Given the description of an element on the screen output the (x, y) to click on. 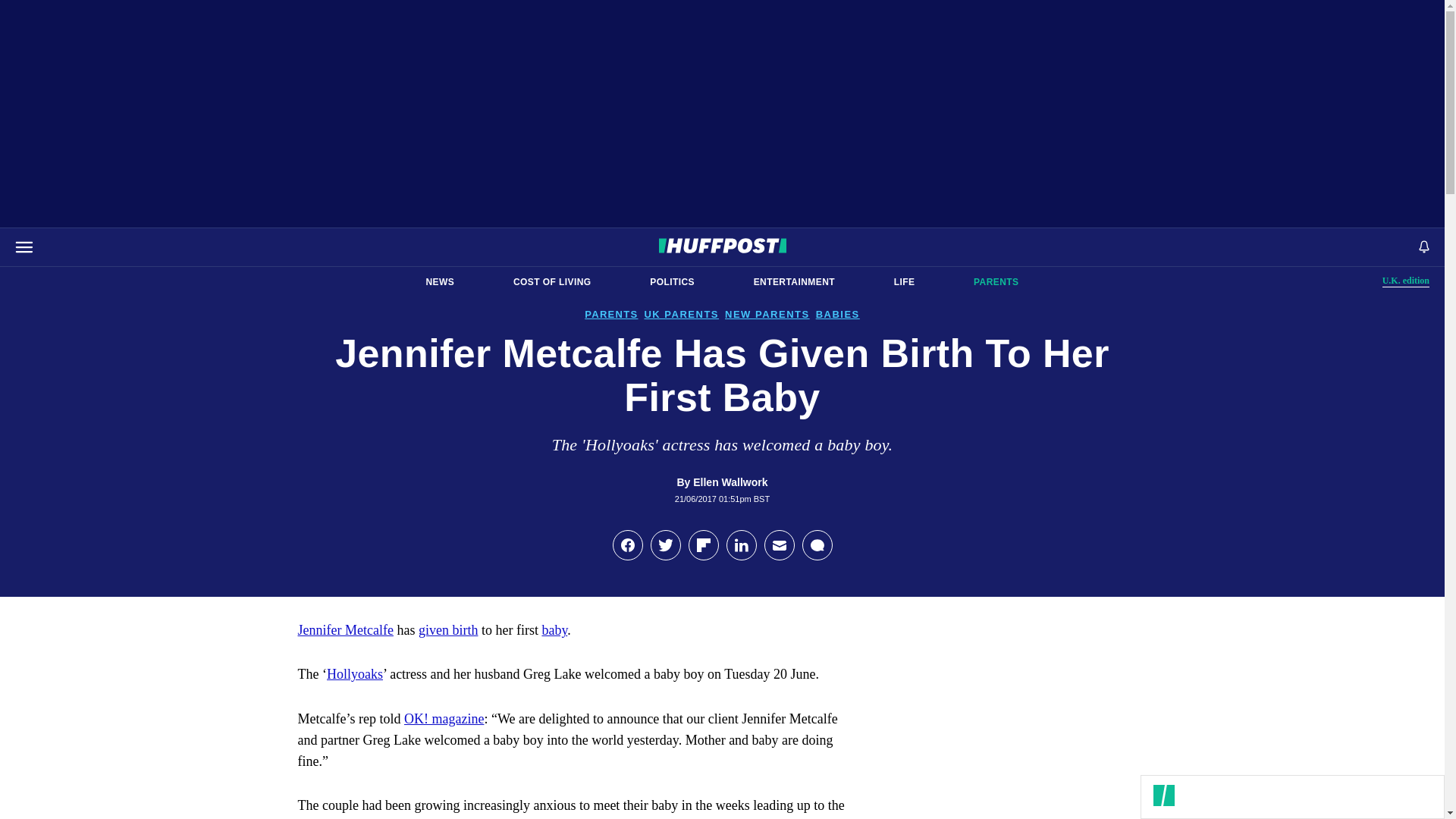
COST OF LIVING (552, 281)
LIFE (904, 281)
PARENTS (995, 281)
POLITICS (671, 281)
ENTERTAINMENT (1405, 281)
NEWS (794, 281)
